Given the description of an element on the screen output the (x, y) to click on. 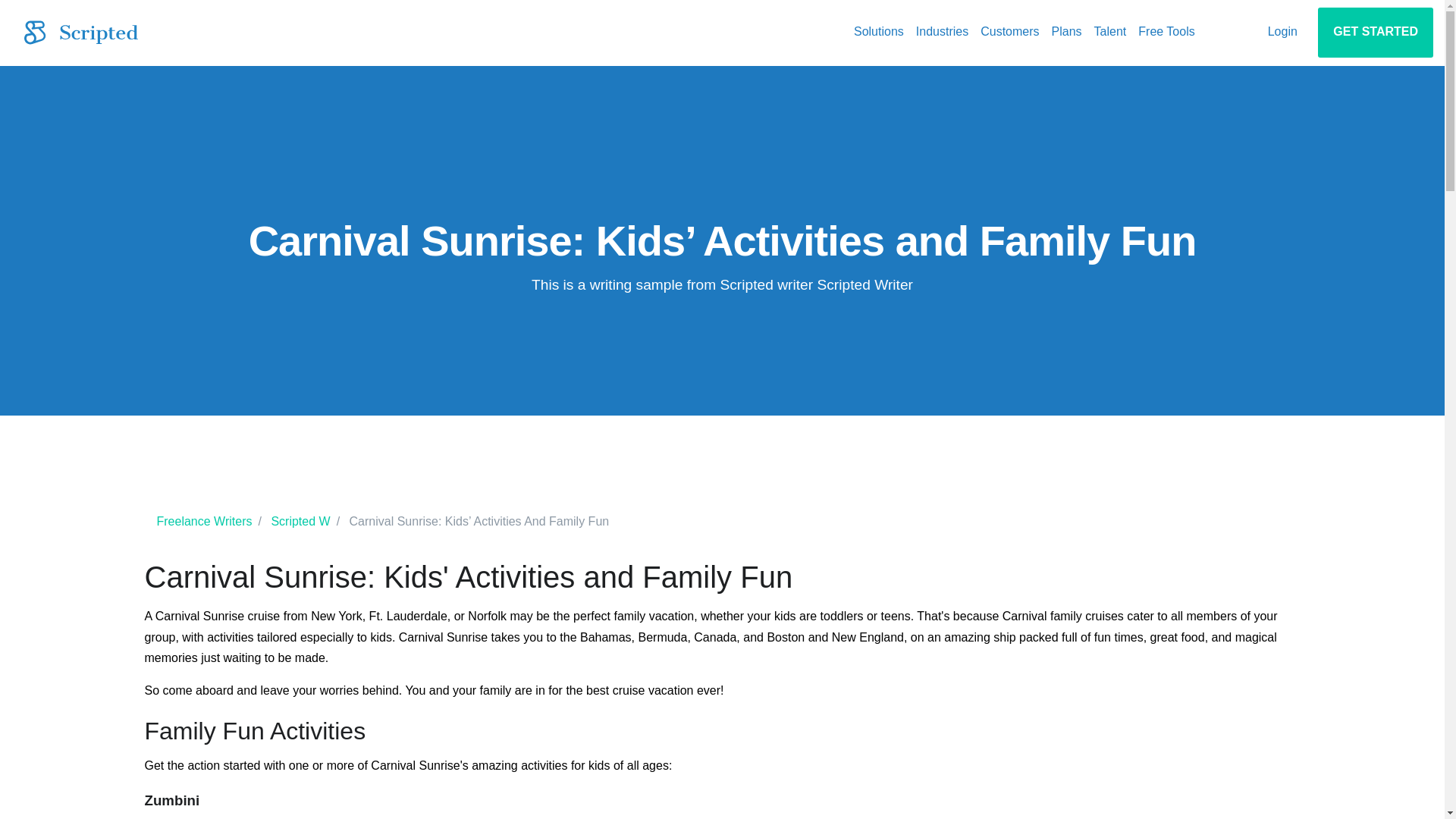
GET STARTED (1374, 32)
Free Tools (1165, 32)
Plans (1066, 32)
Solutions (878, 32)
Customers (1009, 32)
Talent (1109, 32)
Industries (942, 32)
Login (1282, 32)
